Given the description of an element on the screen output the (x, y) to click on. 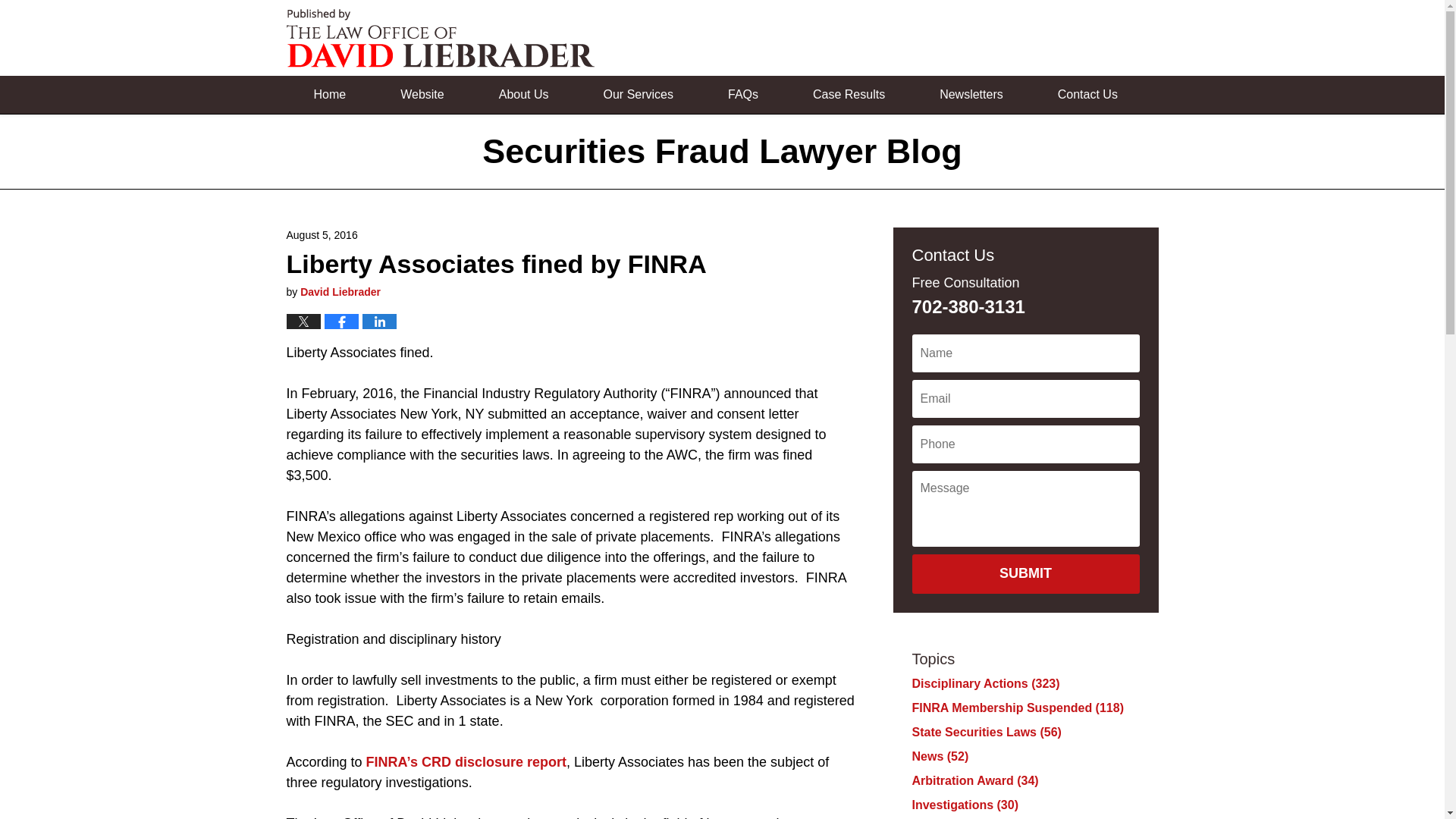
Home (330, 94)
Case Results (849, 94)
David Liebrader (339, 291)
About Us (523, 94)
Published By The Law Office of David Liebrader (1056, 37)
Please enter a valid phone number. (1024, 444)
Our Services (638, 94)
Website (421, 94)
SUBMIT (1024, 573)
Newsletters (971, 94)
Contact Us (1087, 94)
Securities Fraud Lawyer Blog (440, 38)
FAQs (743, 94)
